Given the description of an element on the screen output the (x, y) to click on. 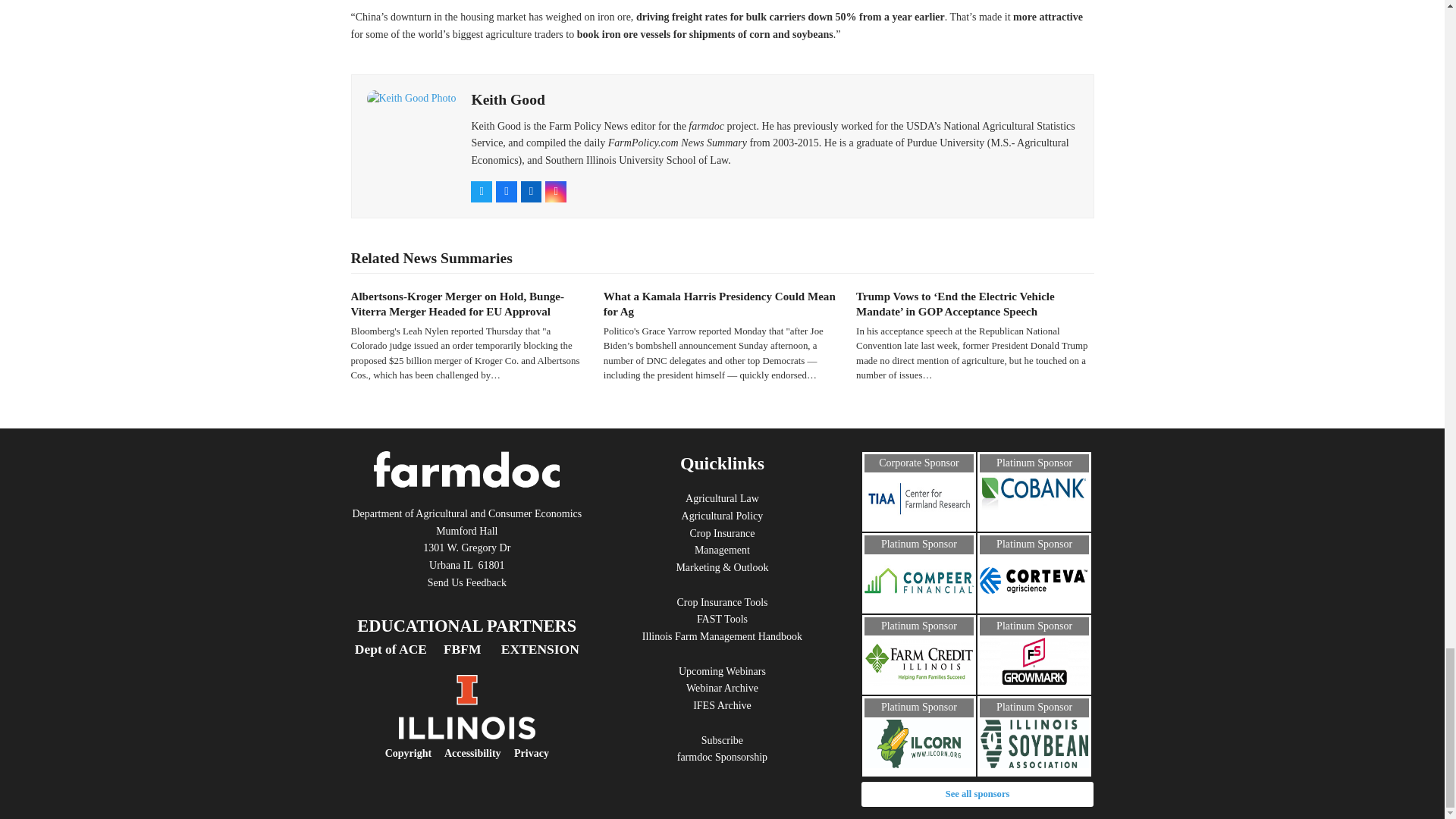
University of Illinois Homepage (466, 736)
Visit Author Page (411, 98)
Visit Author Page (507, 99)
